Given the description of an element on the screen output the (x, y) to click on. 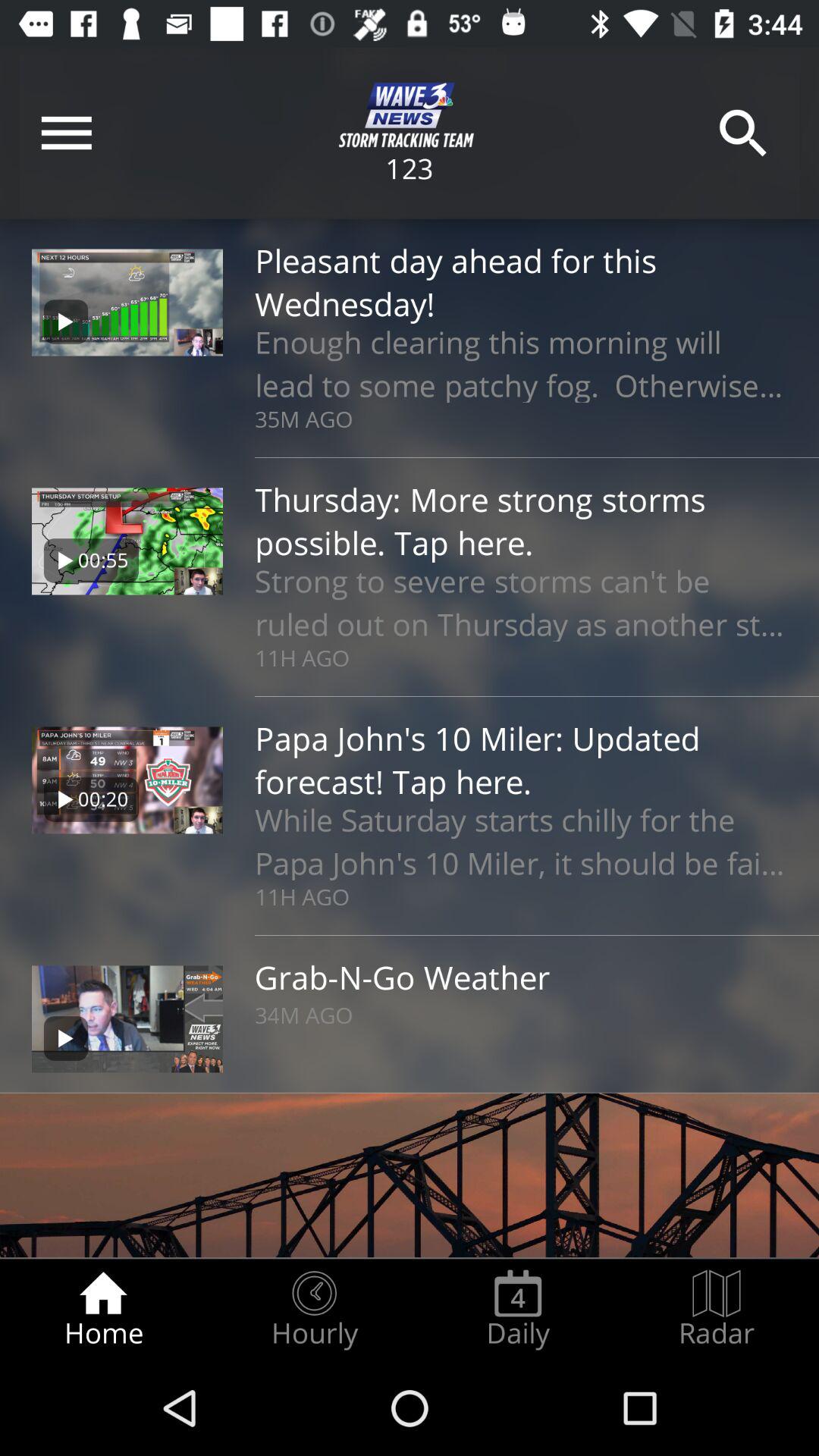
tap the home radio button (103, 1309)
